Given the description of an element on the screen output the (x, y) to click on. 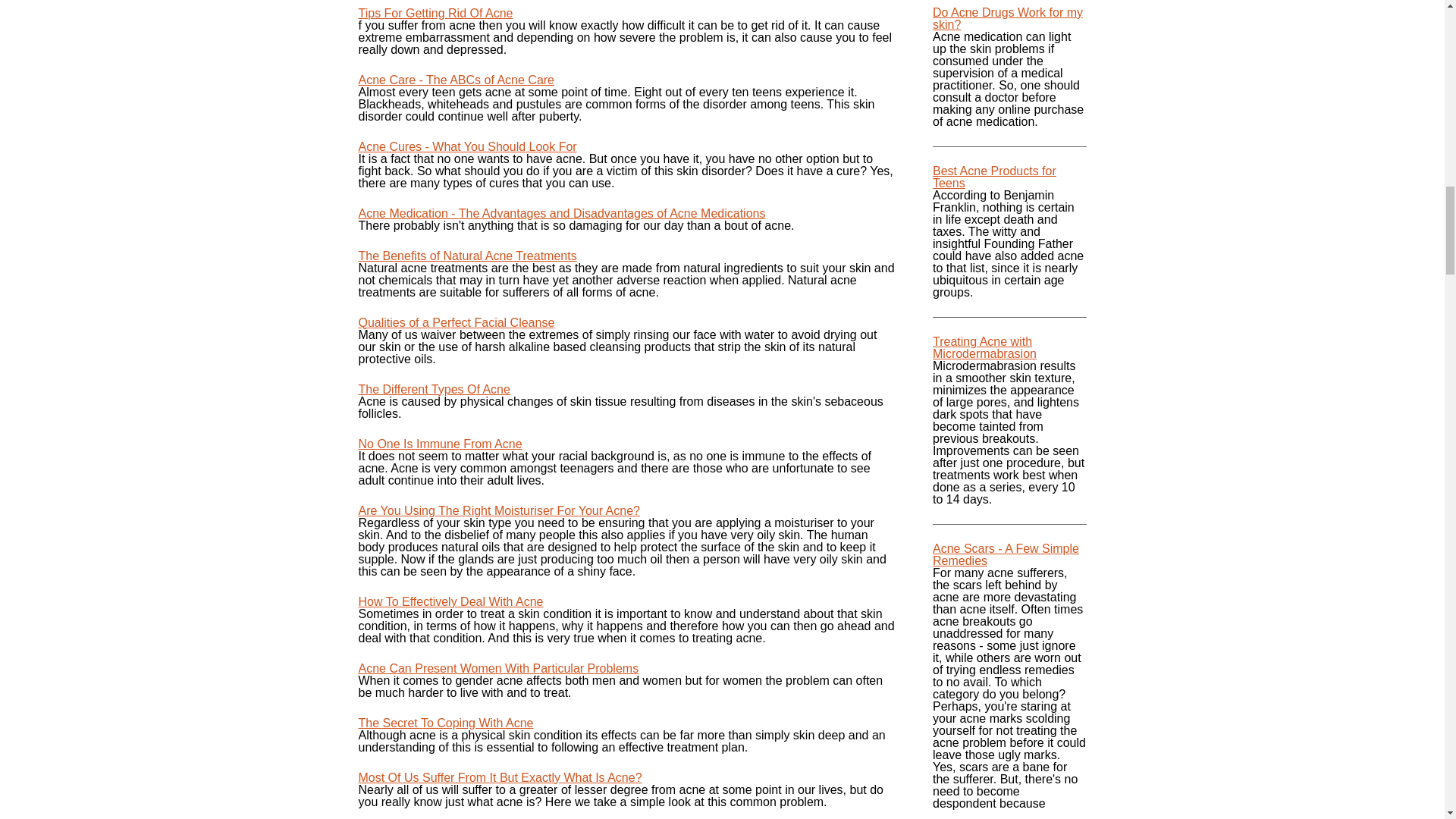
Acne Care - The ABCs of Acne Care (456, 79)
Tips For Getting Rid Of Acne (435, 12)
Acne Cures - What You Should Look For (467, 146)
